Given the description of an element on the screen output the (x, y) to click on. 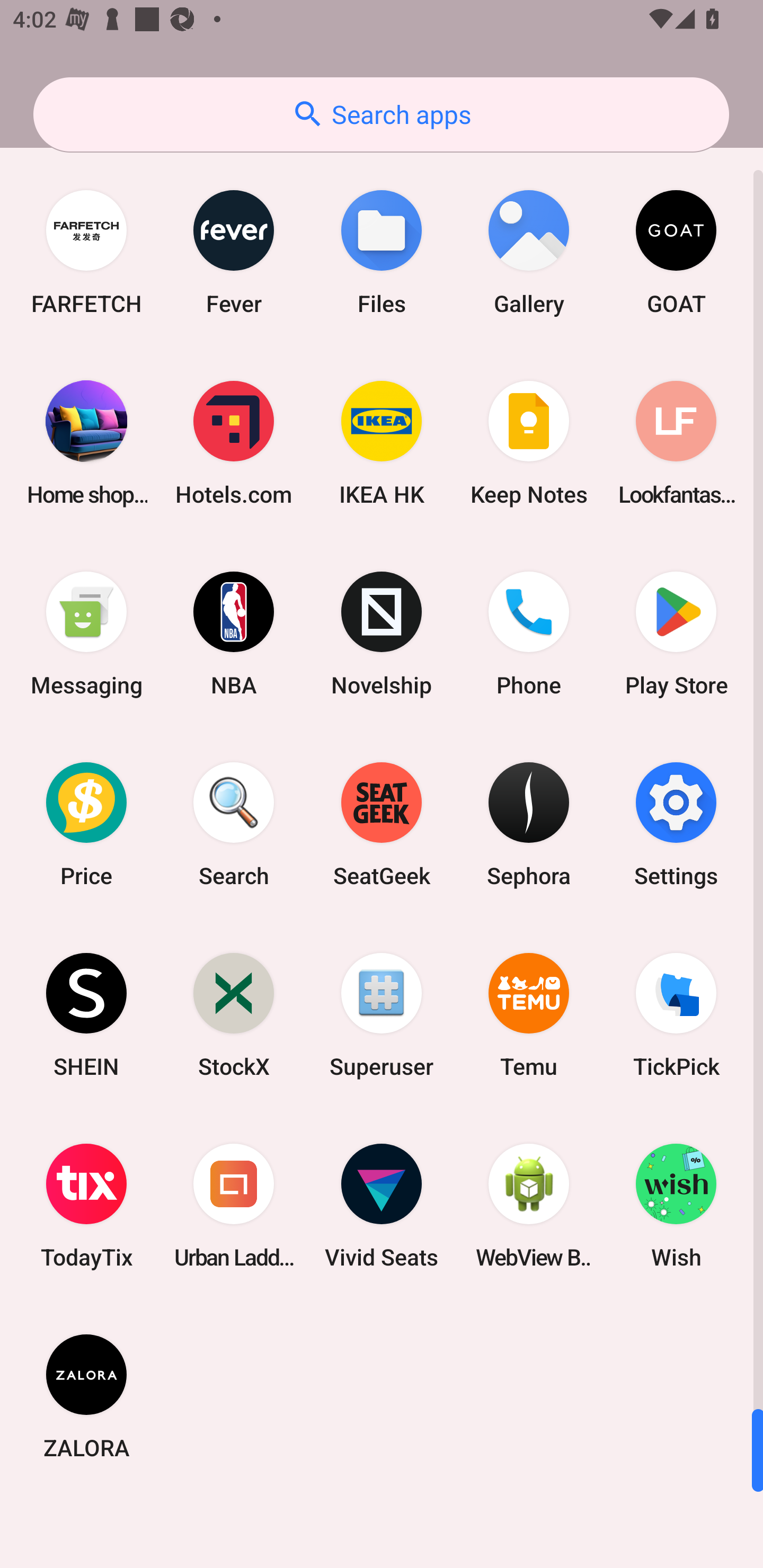
  Search apps (381, 114)
FARFETCH (86, 252)
Fever (233, 252)
Files (381, 252)
Gallery (528, 252)
GOAT (676, 252)
Home shopping (86, 442)
Hotels.com (233, 442)
IKEA HK (381, 442)
Keep Notes (528, 442)
Lookfantastic (676, 442)
Messaging (86, 633)
NBA (233, 633)
Novelship (381, 633)
Phone (528, 633)
Play Store (676, 633)
Price (86, 823)
Search (233, 823)
SeatGeek (381, 823)
Sephora (528, 823)
Settings (676, 823)
SHEIN (86, 1014)
StockX (233, 1014)
Superuser (381, 1014)
Temu (528, 1014)
TickPick (676, 1014)
TodayTix (86, 1205)
Urban Ladder (233, 1205)
Vivid Seats (381, 1205)
WebView Browser Tester (528, 1205)
Wish (676, 1205)
ZALORA (86, 1396)
